Given the description of an element on the screen output the (x, y) to click on. 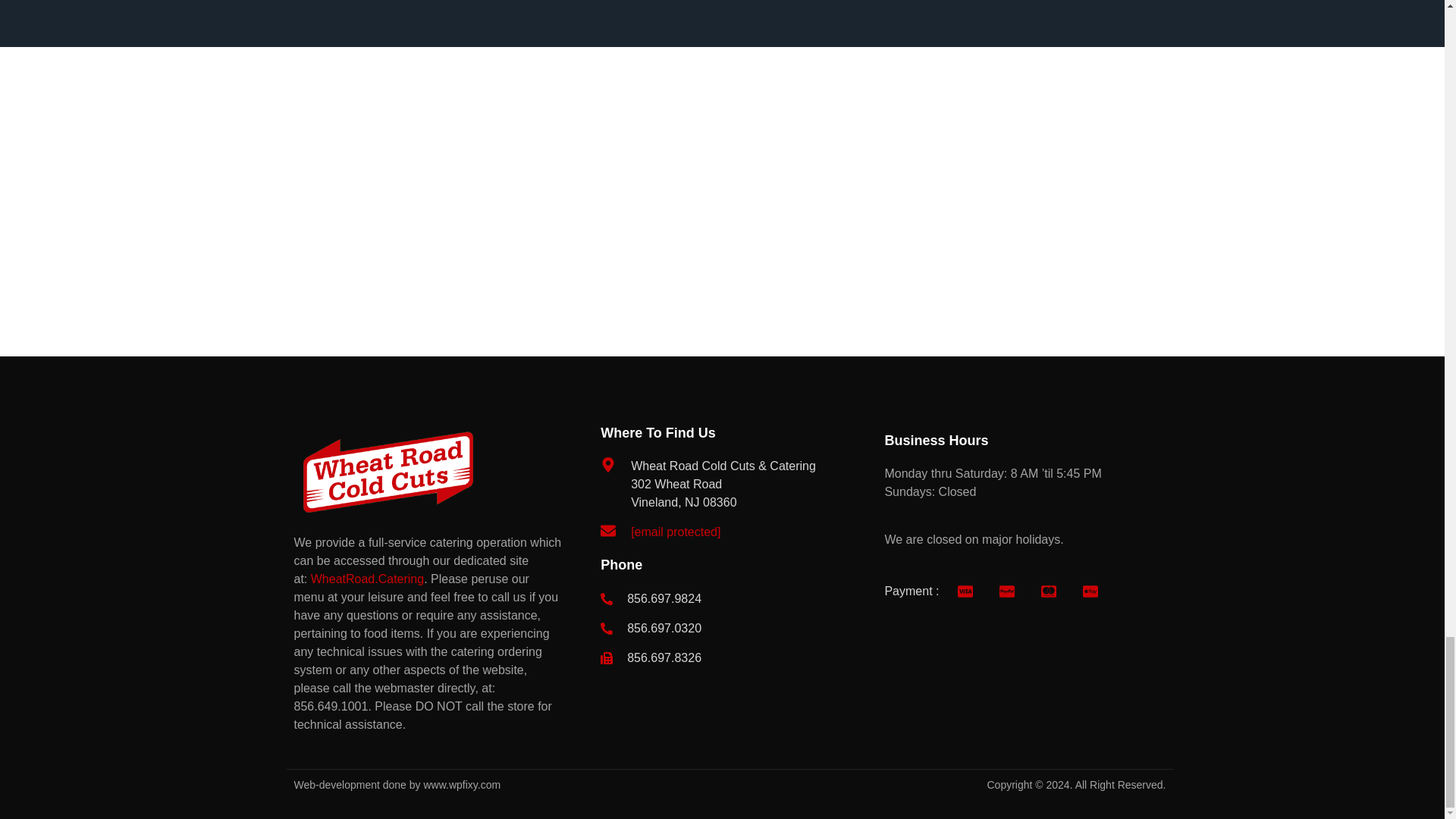
856.697.9824 (737, 598)
WheatRoad.Catering (367, 578)
856.697.0320 (737, 628)
856.697.8326 (737, 658)
